Given the description of an element on the screen output the (x, y) to click on. 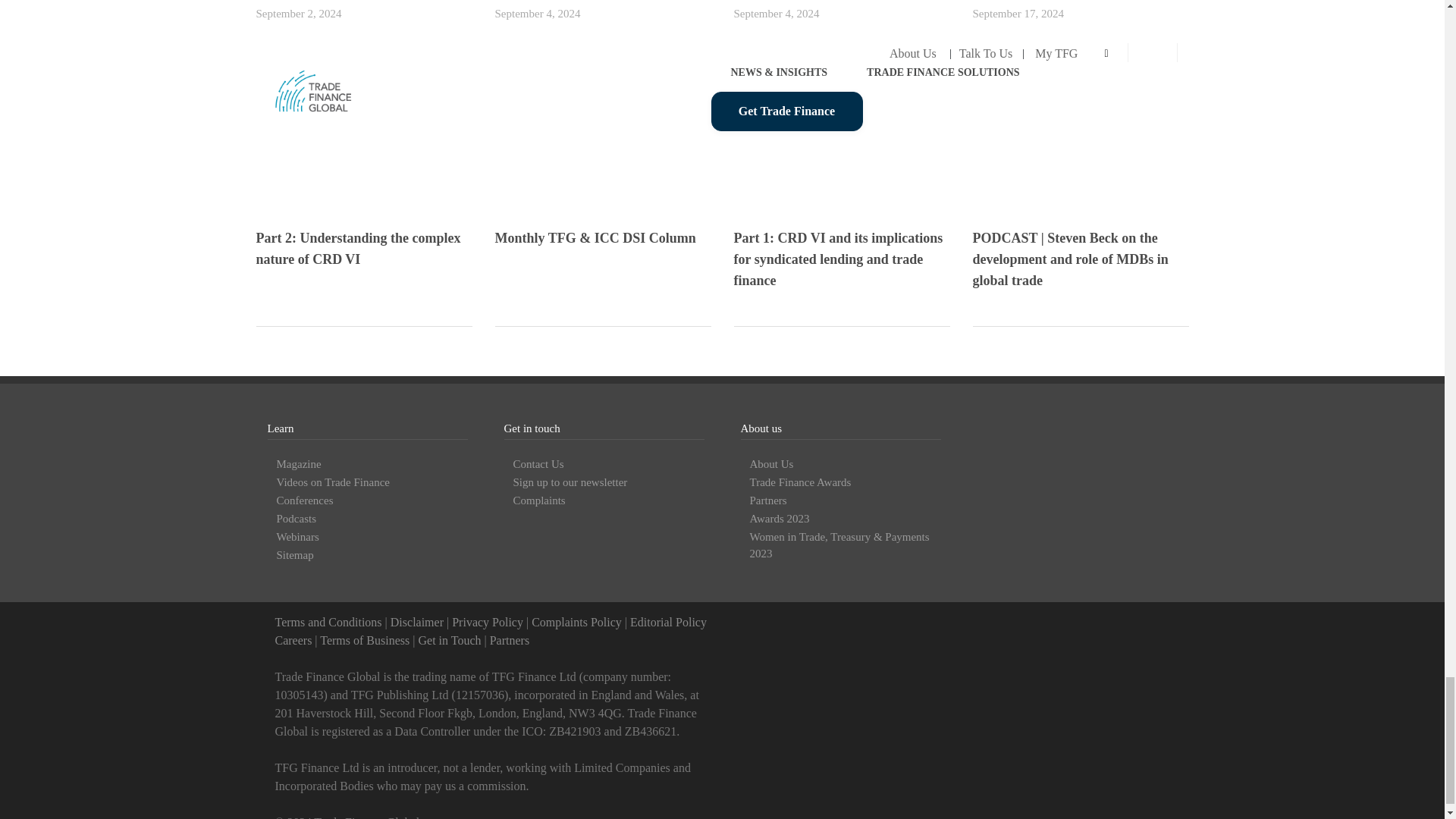
Trade Finance Jobs (293, 640)
Terms and Conditions (328, 621)
Disclaimer (417, 621)
Complaints Policy (576, 621)
Contact Us (448, 640)
Editorial Policy (668, 621)
Privacy Policy (486, 621)
Terms of Business (364, 640)
